Given the description of an element on the screen output the (x, y) to click on. 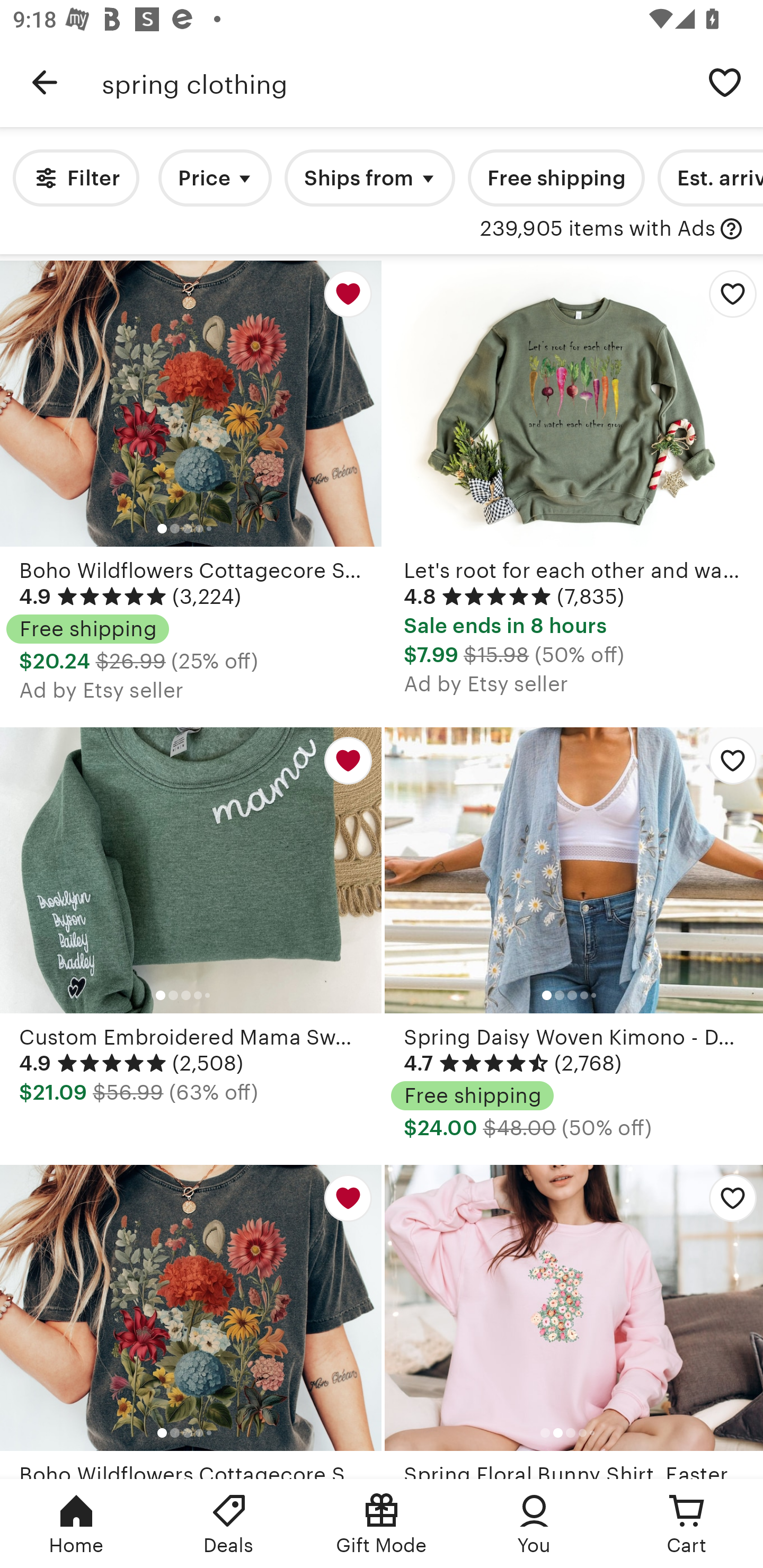
Navigate up (44, 82)
Save search (724, 81)
spring clothing (393, 82)
Filter (75, 177)
Price (214, 177)
Ships from (369, 177)
Free shipping (555, 177)
239,905 items with Ads (597, 228)
with Ads (730, 228)
Deals (228, 1523)
Gift Mode (381, 1523)
You (533, 1523)
Cart (686, 1523)
